Given the description of an element on the screen output the (x, y) to click on. 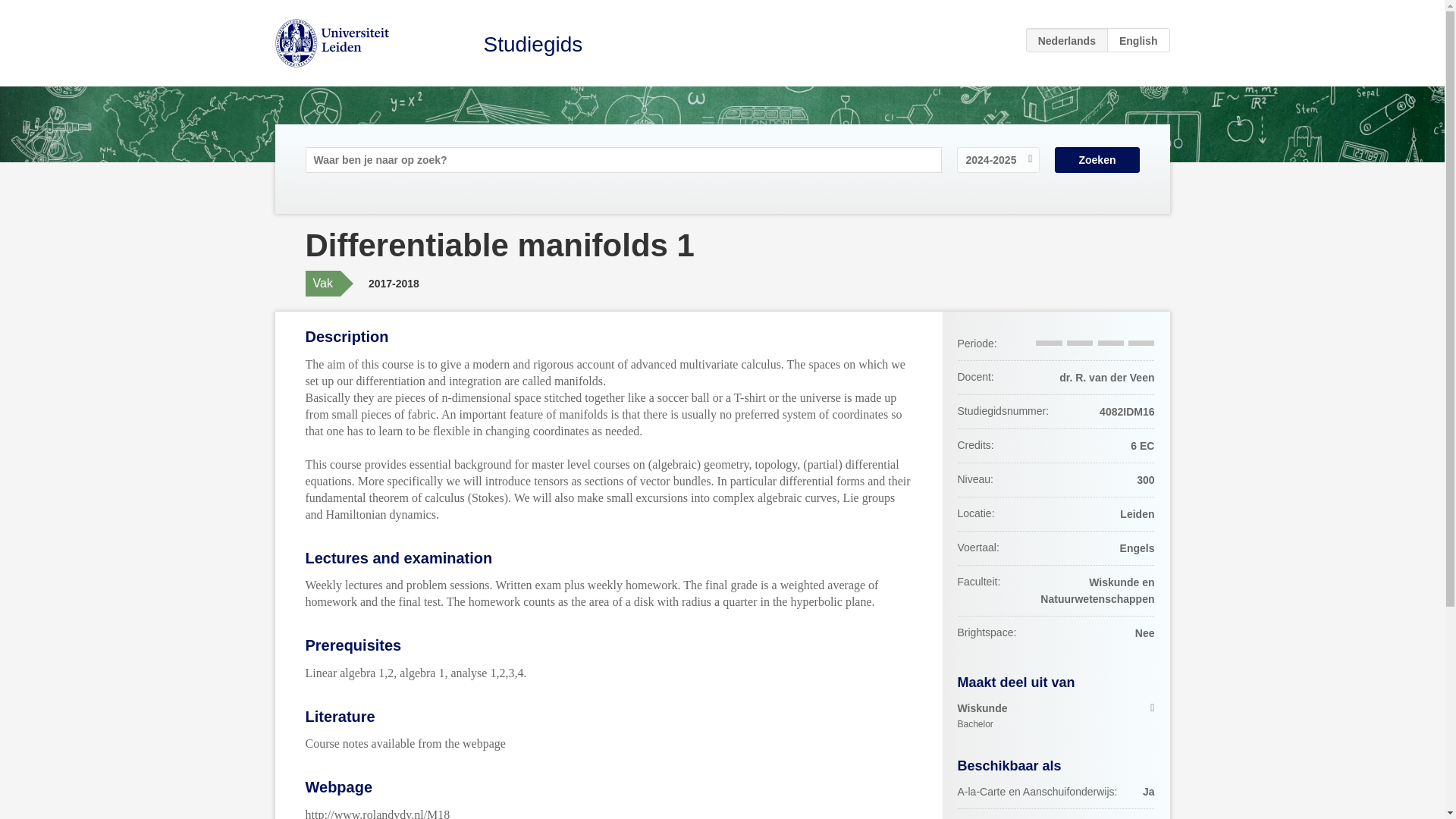
Zoeken (1096, 159)
Studiegids (1055, 716)
EN (533, 44)
